Given the description of an element on the screen output the (x, y) to click on. 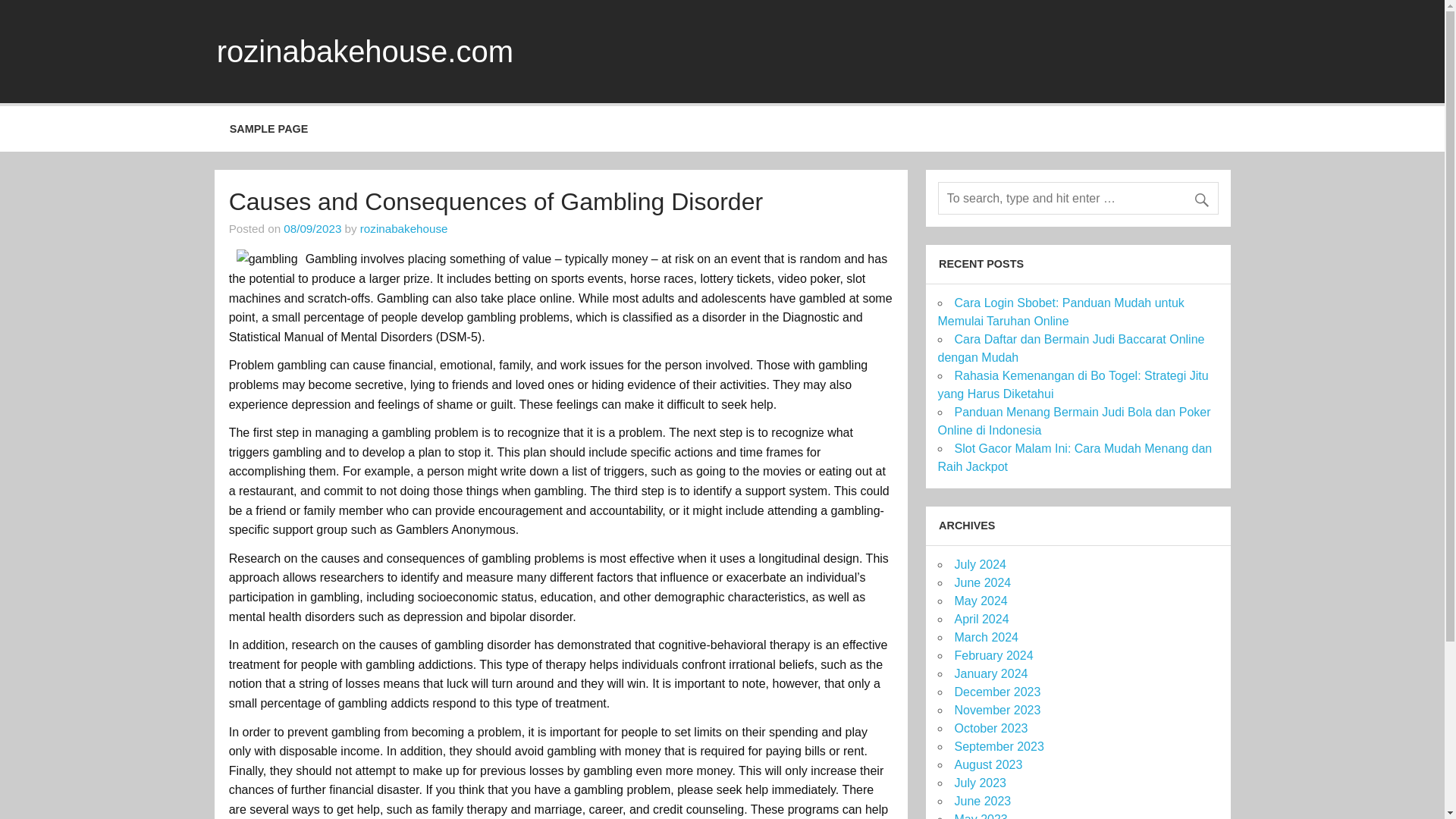
SAMPLE PAGE (268, 128)
April 2024 (981, 618)
May 2024 (980, 600)
Slot Gacor Malam Ini: Cara Mudah Menang dan Raih Jackpot (1074, 457)
June 2024 (981, 582)
View all posts by rozinabakehouse (403, 228)
December 2023 (997, 691)
February 2024 (992, 655)
rozinabakehouse.com (364, 51)
January 2024 (990, 673)
June 2023 (981, 800)
rozinabakehouse (403, 228)
July 2023 (979, 782)
May 2023 (980, 816)
